Given the description of an element on the screen output the (x, y) to click on. 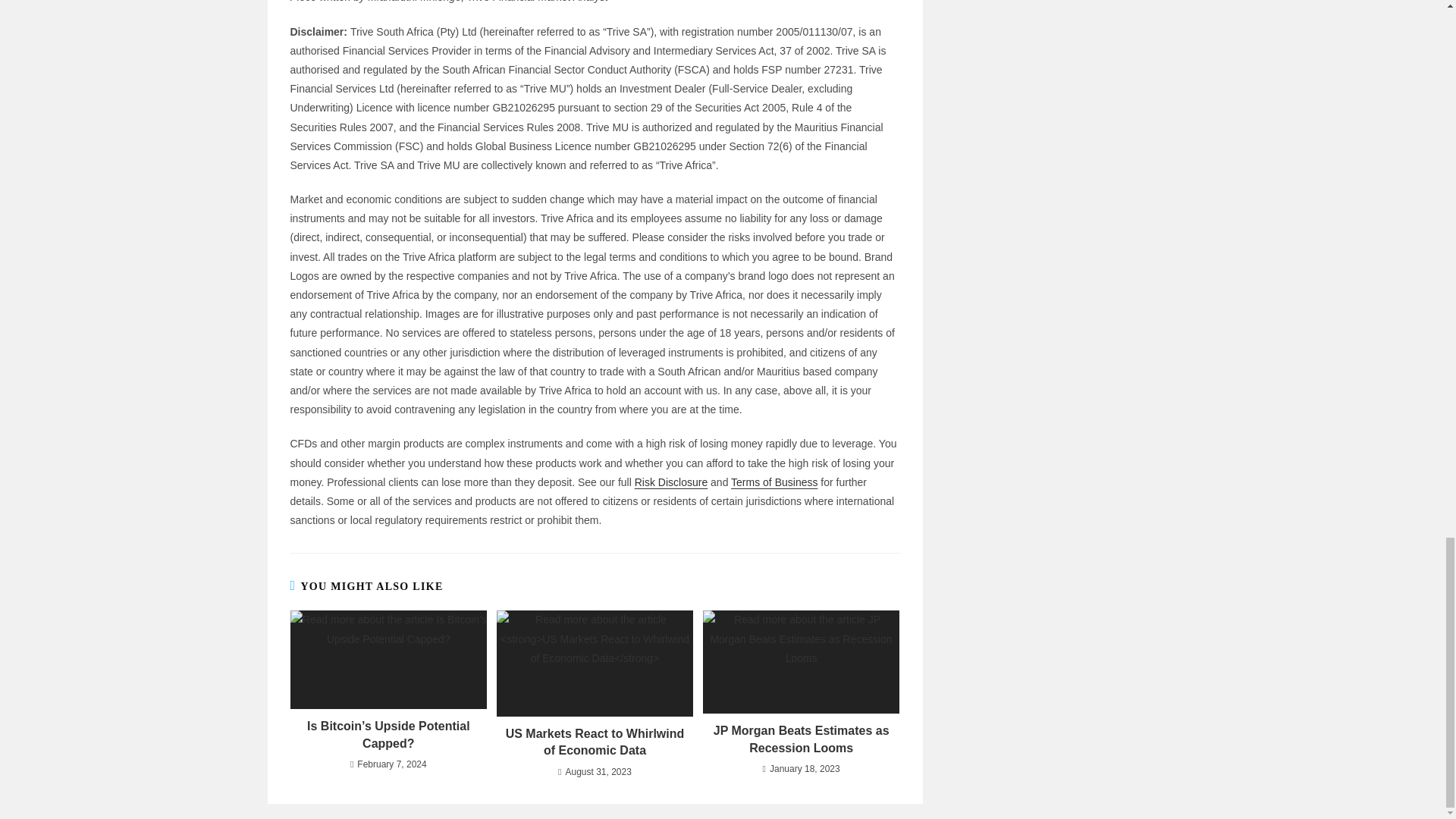
JP Morgan Beats Estimates as Recession Looms (801, 739)
US Markets React to Whirlwind of Economic Data (594, 742)
Terms of Business (773, 481)
Risk Disclosure (670, 481)
